Given the description of an element on the screen output the (x, y) to click on. 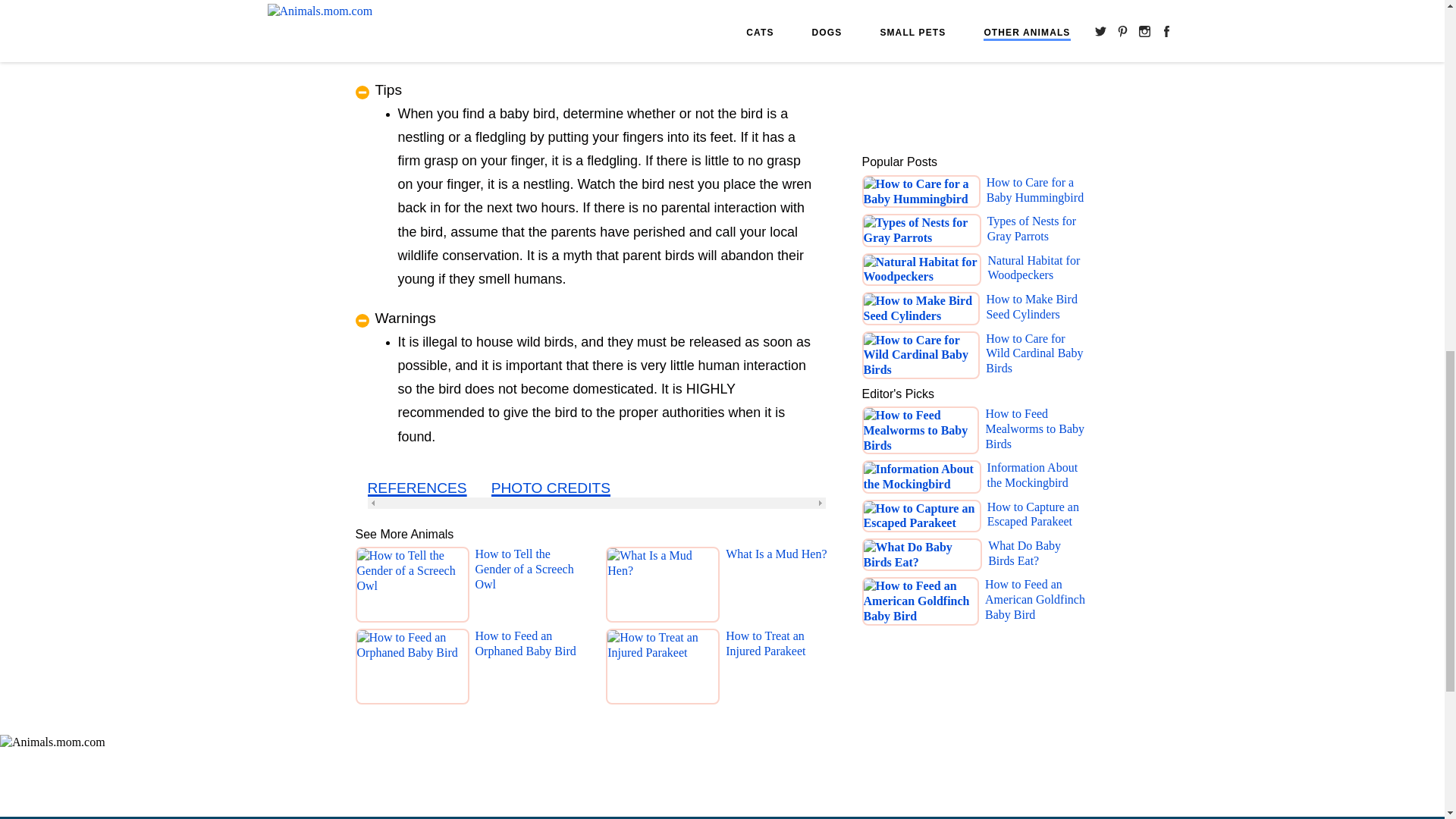
What Is a Mud Hen? (776, 587)
How to Treat an Injured Parakeet (781, 669)
How to Tell the Gender of a Screech Owl (530, 587)
How to Feed an Orphaned Baby Bird (530, 669)
